Given the description of an element on the screen output the (x, y) to click on. 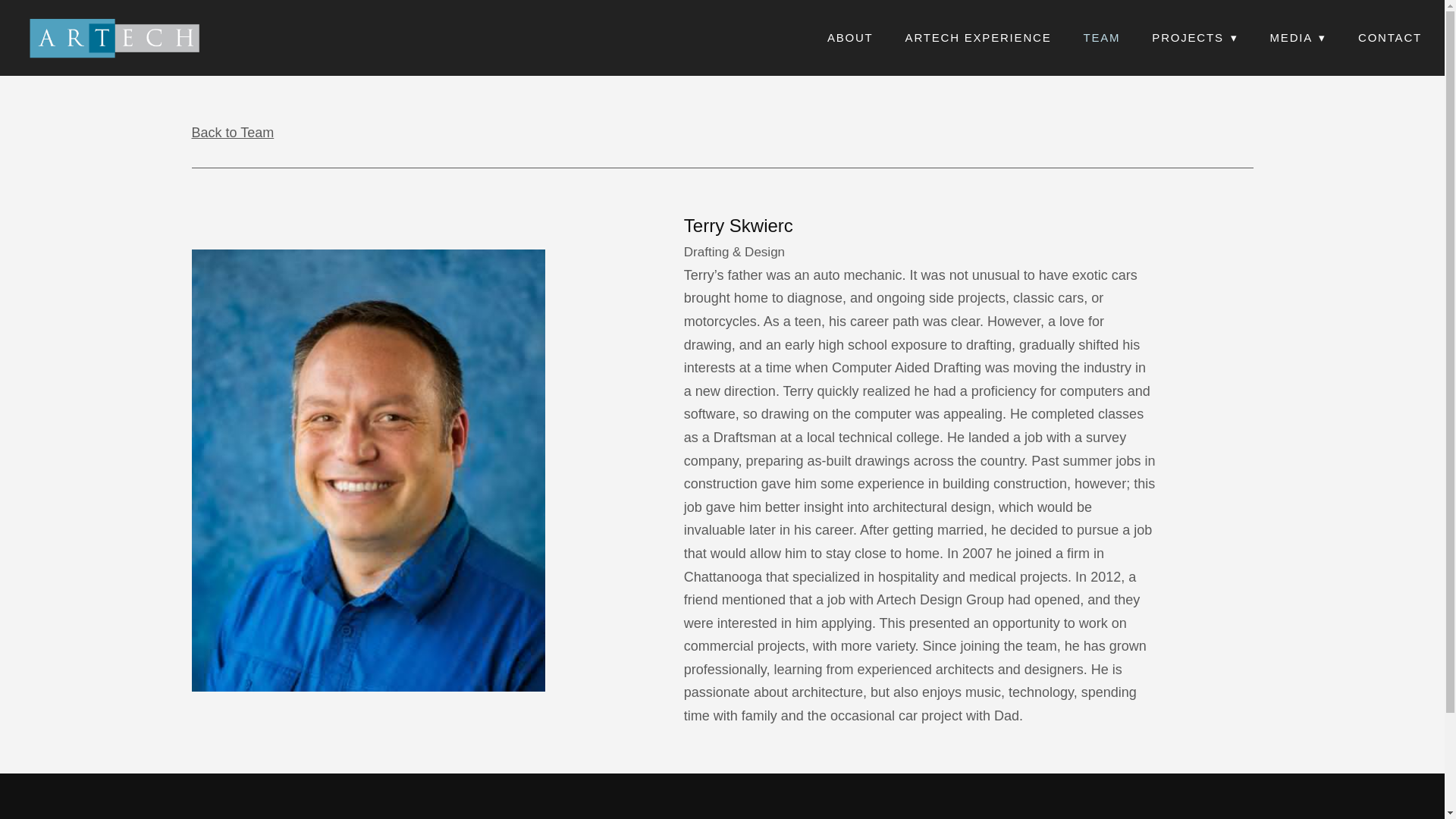
ARTECH EXPERIENCE (978, 37)
ABOUT (850, 37)
CONTACT (1390, 37)
Back to Team (231, 132)
Artech Design Group (114, 37)
TEAM (1101, 37)
